Given the description of an element on the screen output the (x, y) to click on. 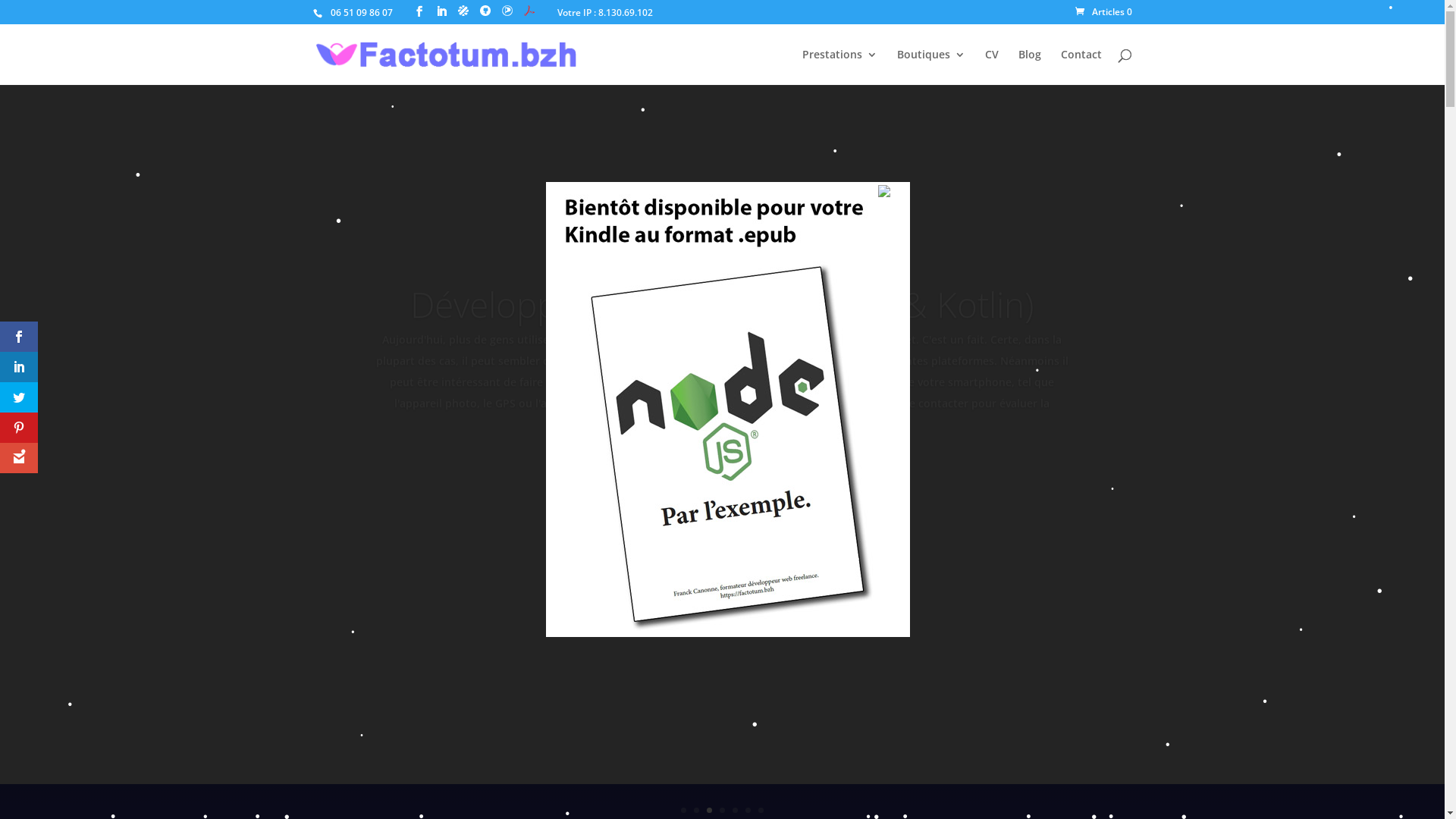
6 Element type: text (747, 809)
Blog Element type: text (1028, 66)
Fermer Element type: hover (892, 192)
Contact Element type: text (1080, 66)
4 Element type: text (721, 809)
Page Facebook Element type: hover (419, 11)
CV Element type: text (990, 66)
GitHub de Franck Canonne Element type: hover (484, 11)
Profil Malt Element type: hover (463, 11)
Boutiques Element type: text (930, 66)
Profil LinkedIn Element type: hover (440, 11)
3 Element type: text (709, 809)
Prestations Element type: text (839, 66)
1 Element type: text (683, 809)
2 Element type: text (696, 809)
7 Element type: text (760, 809)
06 51 09 86 07 Element type: text (359, 12)
Articles 0 Element type: text (1103, 11)
En savoir plus Element type: text (722, 534)
5 Element type: text (734, 809)
